Given the description of an element on the screen output the (x, y) to click on. 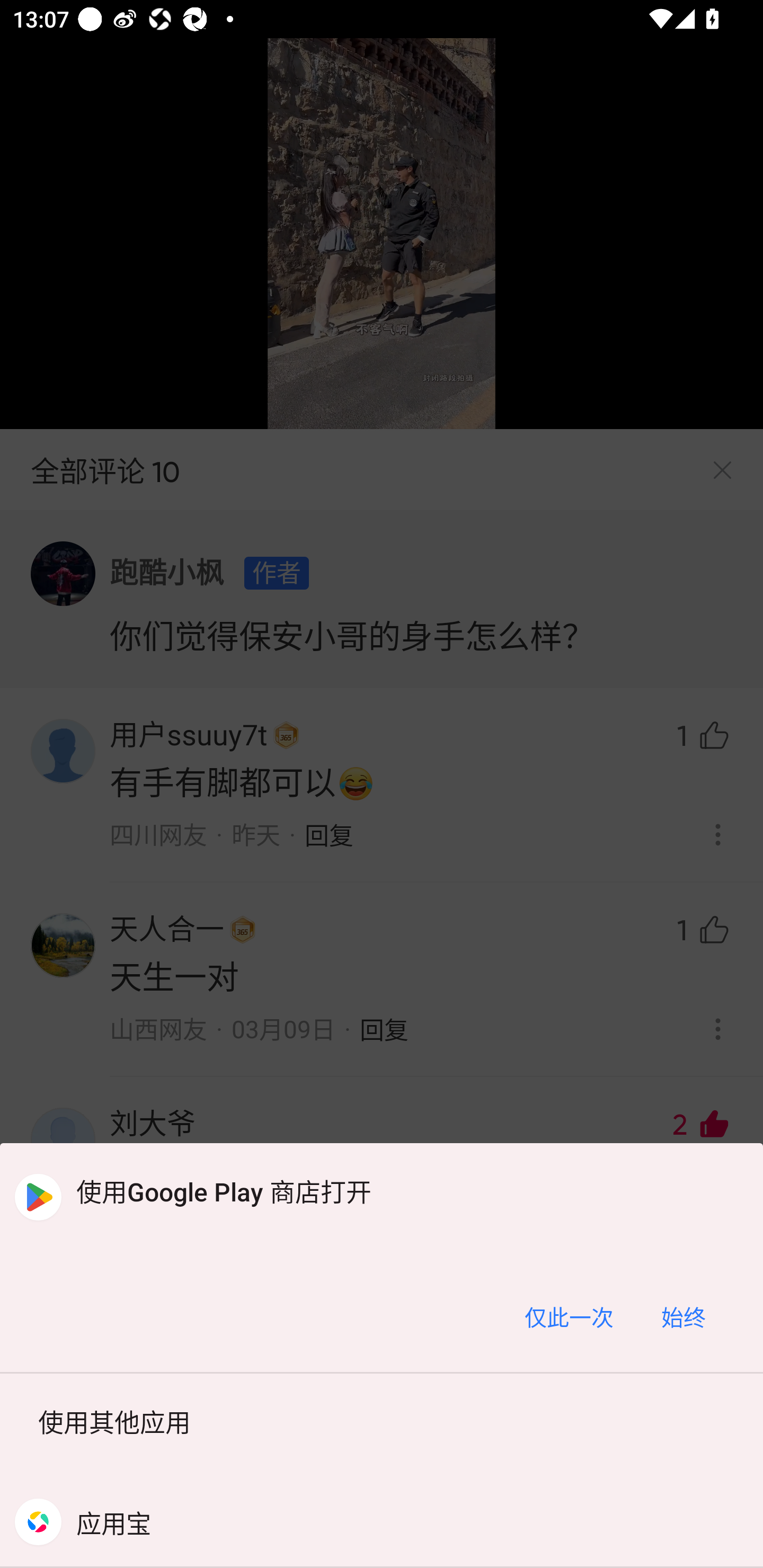
仅此一次 (568, 1316)
始终 (683, 1316)
应用宝 (381, 1521)
